Given the description of an element on the screen output the (x, y) to click on. 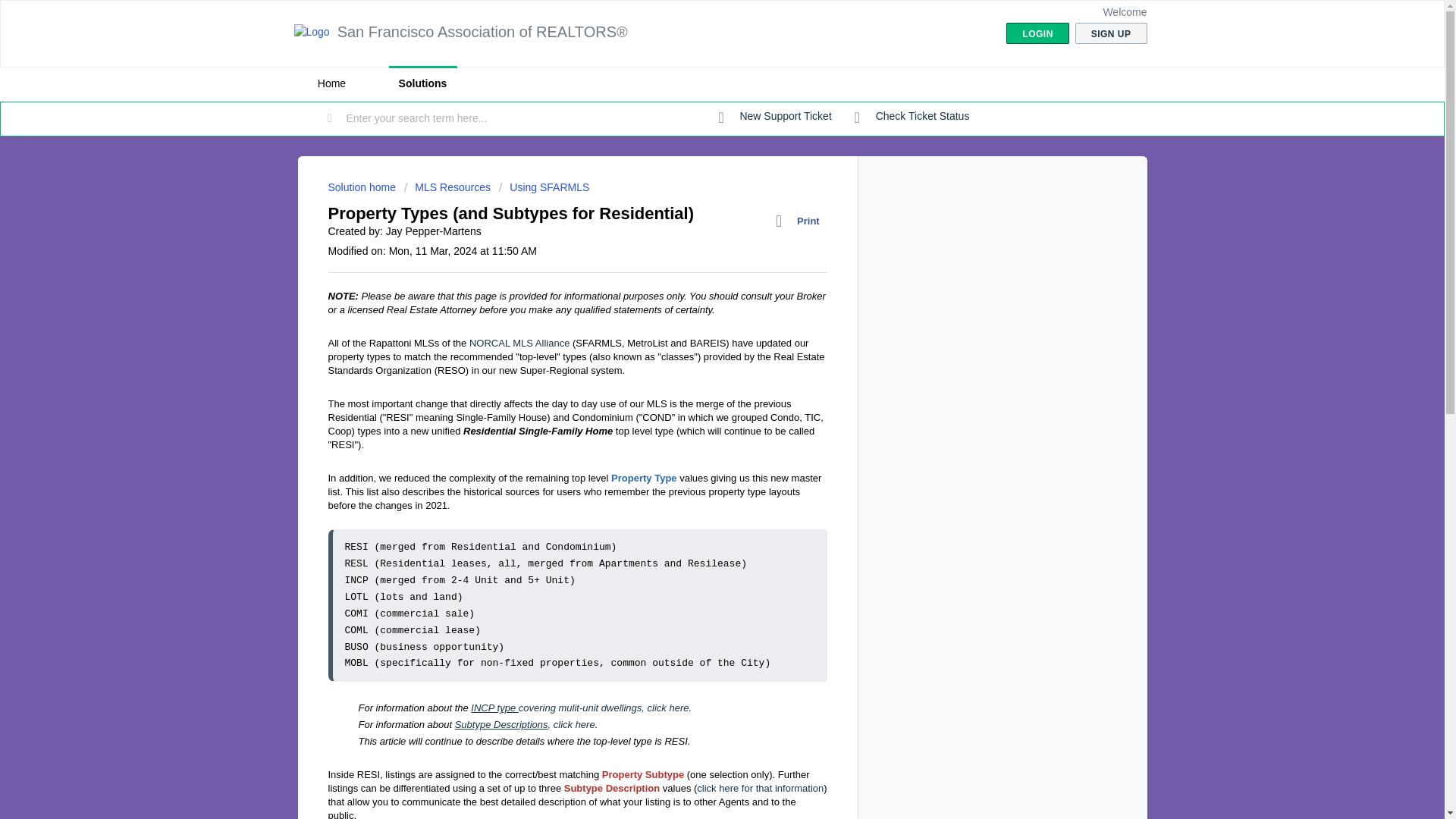
Print (801, 220)
Home (331, 83)
Solutions (422, 83)
Check ticket status (911, 116)
New Support Ticket (775, 116)
INCP type covering mulit-unit dwellings, click here (579, 707)
SIGN UP (1111, 33)
New support ticket (775, 116)
Print this Article (801, 220)
Using SFARMLS (544, 186)
Solution home (362, 186)
MLS Resources (447, 186)
click here for that information (760, 787)
NORCAL MLS Alliance (518, 342)
Check Ticket Status (911, 116)
